Given the description of an element on the screen output the (x, y) to click on. 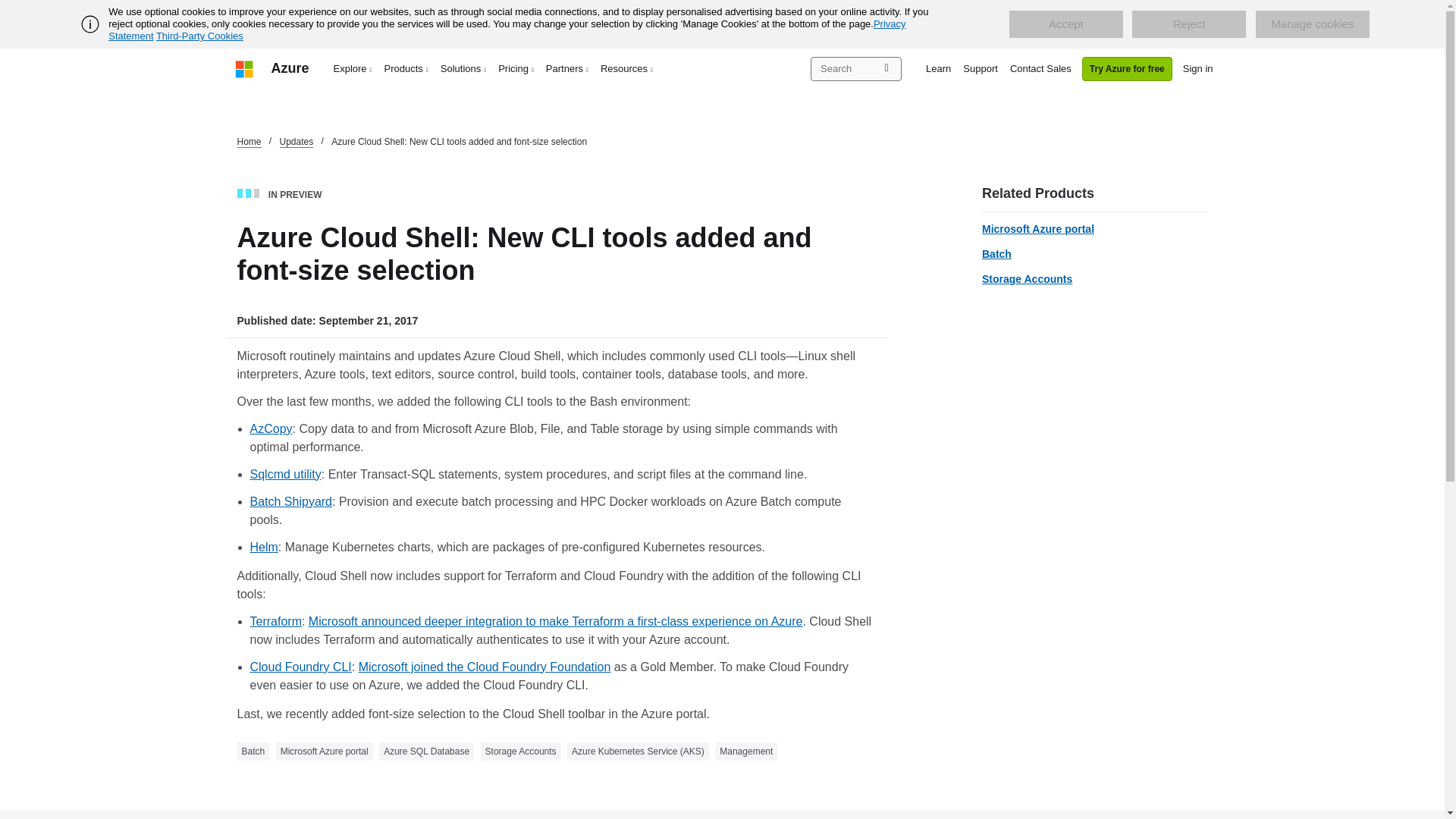
Reject (1189, 23)
Manage cookies (1312, 23)
Explore (352, 68)
Skip to main content (7, 7)
Products (405, 68)
Third-Party Cookies (199, 35)
Azure (289, 68)
Privacy Statement (506, 29)
Accept (1065, 23)
